Given the description of an element on the screen output the (x, y) to click on. 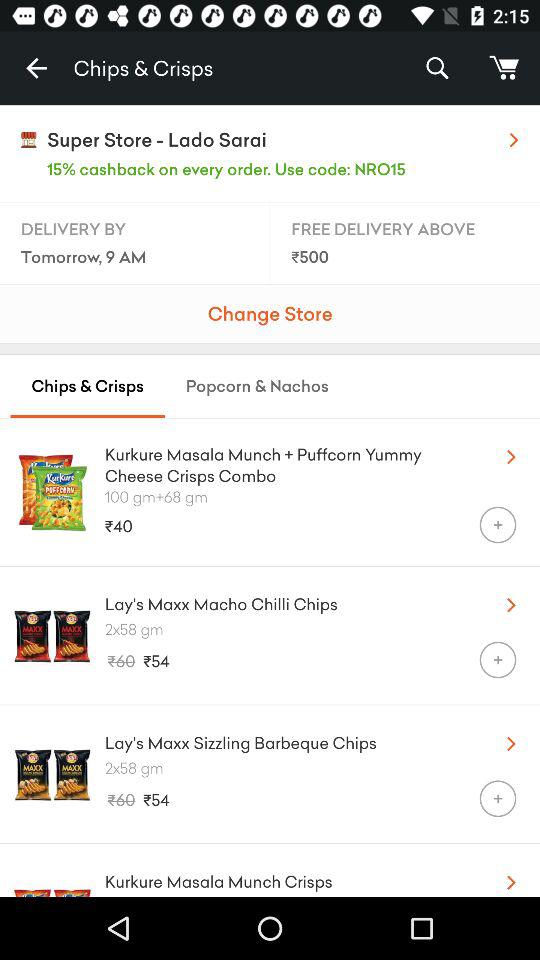
scroll until the % icon (436, 67)
